Given the description of an element on the screen output the (x, y) to click on. 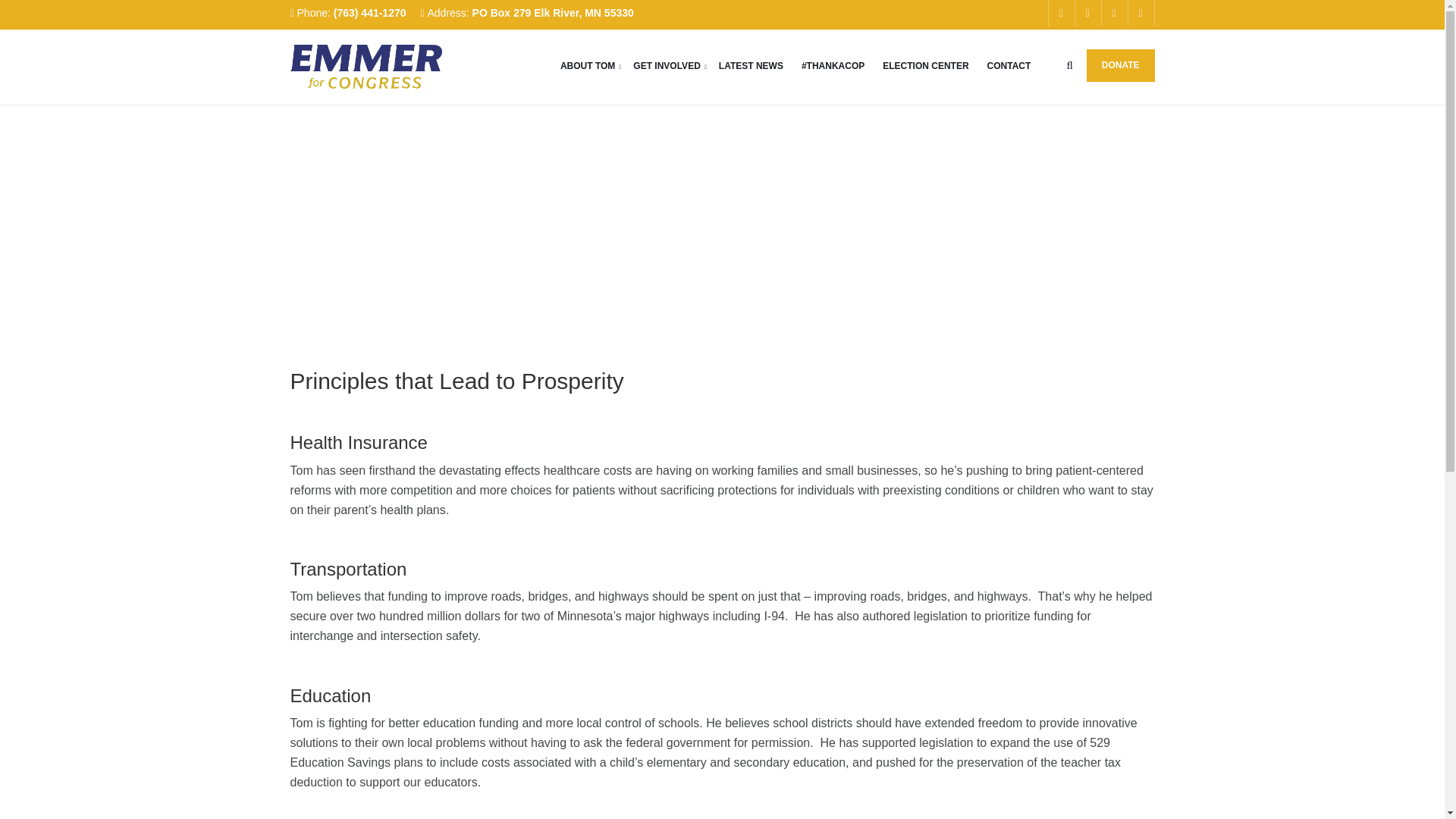
Address: PO Box 279 Elk River, MN 55330 (526, 12)
DONATE (1120, 65)
LATEST NEWS (751, 64)
Search (967, 205)
ELECTION CENTER (924, 64)
ABOUT TOM (587, 64)
GET INVOLVED (666, 64)
